Given the description of an element on the screen output the (x, y) to click on. 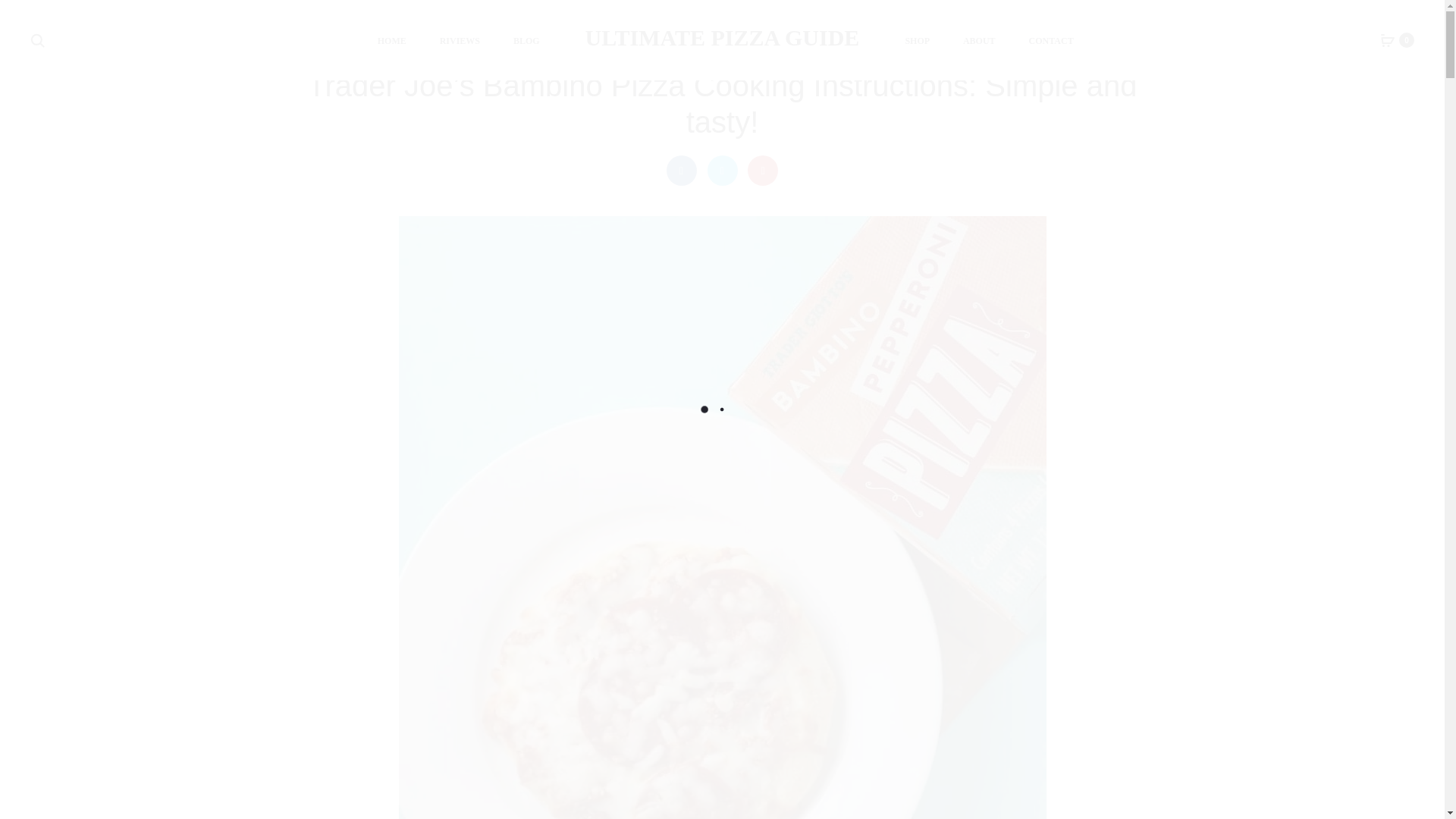
ULTIMATE PIZZA GUIDE (722, 37)
mypizzadoc (687, 45)
SHOP (917, 41)
PIZZA GUIDE (745, 45)
Search (37, 39)
BLOG (526, 41)
CONTACT (1051, 41)
0 (1387, 39)
ABOUT (978, 41)
HOME (391, 41)
RIVIEWS (459, 41)
